Given the description of an element on the screen output the (x, y) to click on. 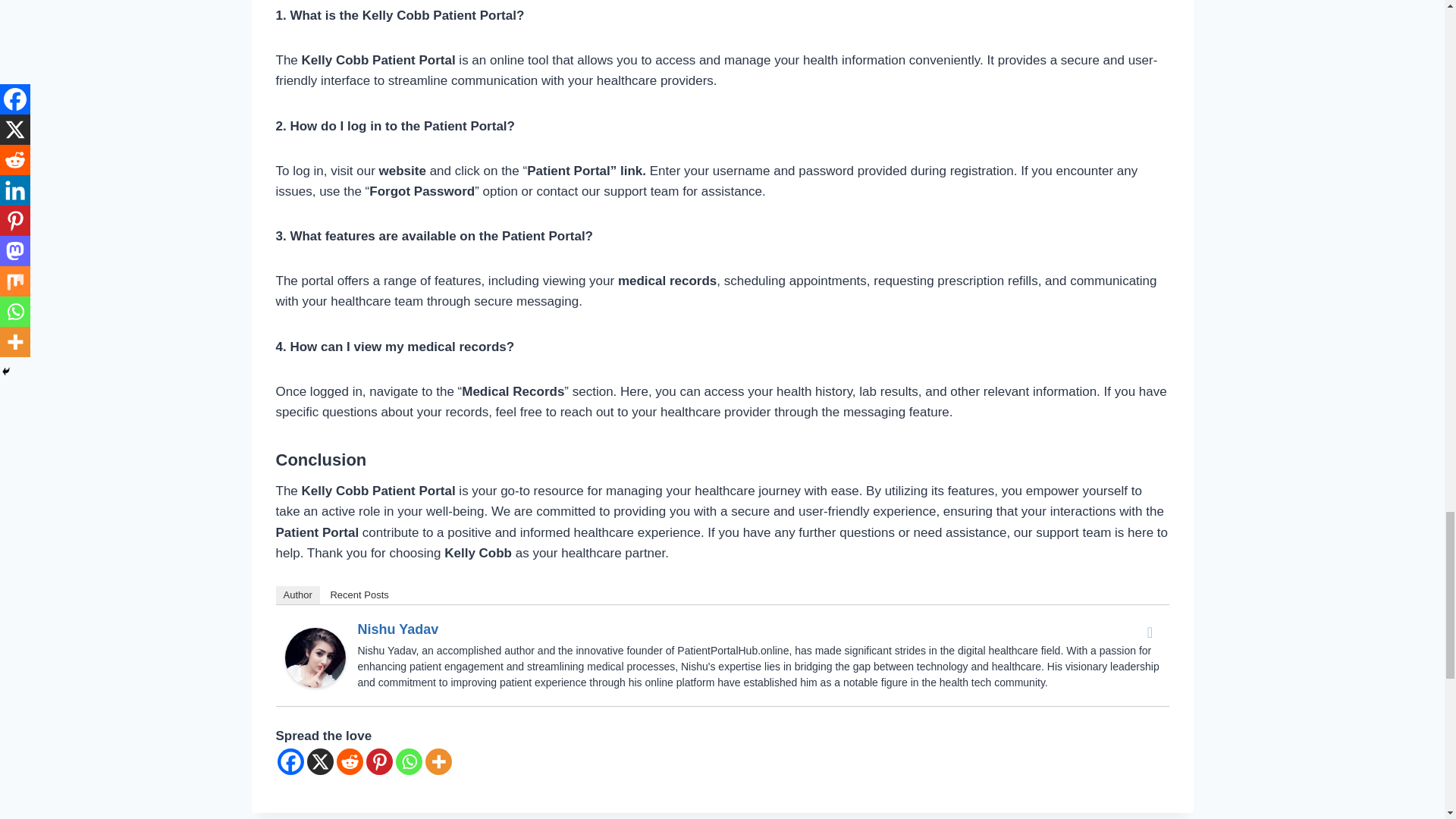
Nishu Yadav (315, 657)
Author (298, 595)
Recent Posts (358, 595)
